Given the description of an element on the screen output the (x, y) to click on. 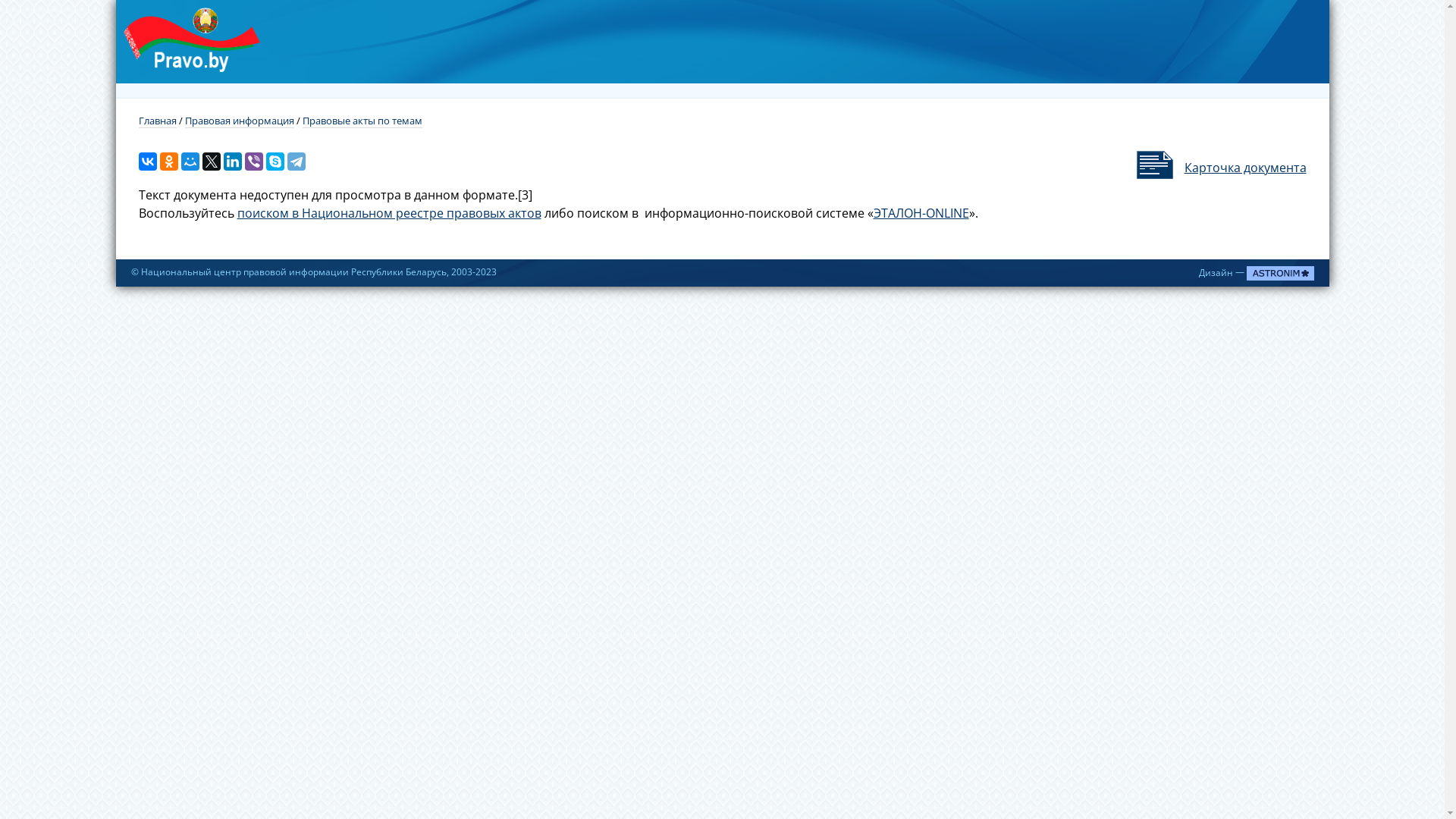
Telegram Element type: hover (295, 161)
Viber Element type: hover (253, 161)
LinkedIn Element type: hover (231, 161)
Skype Element type: hover (274, 161)
Twitter Element type: hover (210, 161)
